Given the description of an element on the screen output the (x, y) to click on. 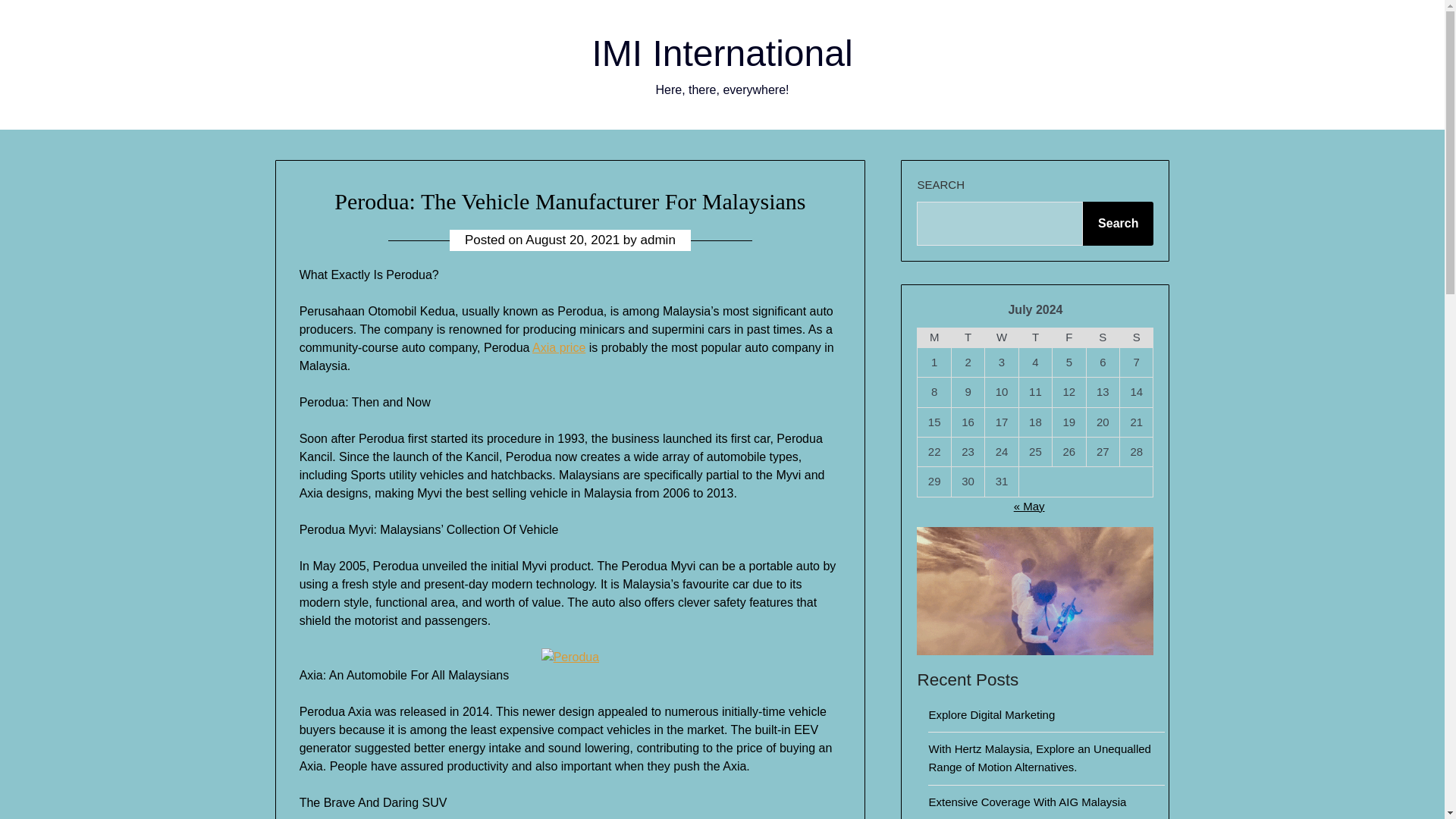
admin (657, 239)
Search (1118, 223)
Saturday (1102, 337)
Axia price (558, 347)
Sunday (1136, 337)
Wednesday (1001, 337)
IMI International (721, 53)
Extensive Coverage With AIG Malaysia (1026, 801)
Monday (933, 337)
August 20, 2021 (572, 239)
Tuesday (967, 337)
Thursday (1034, 337)
Explore Digital Marketing (991, 714)
Friday (1069, 337)
